Given the description of an element on the screen output the (x, y) to click on. 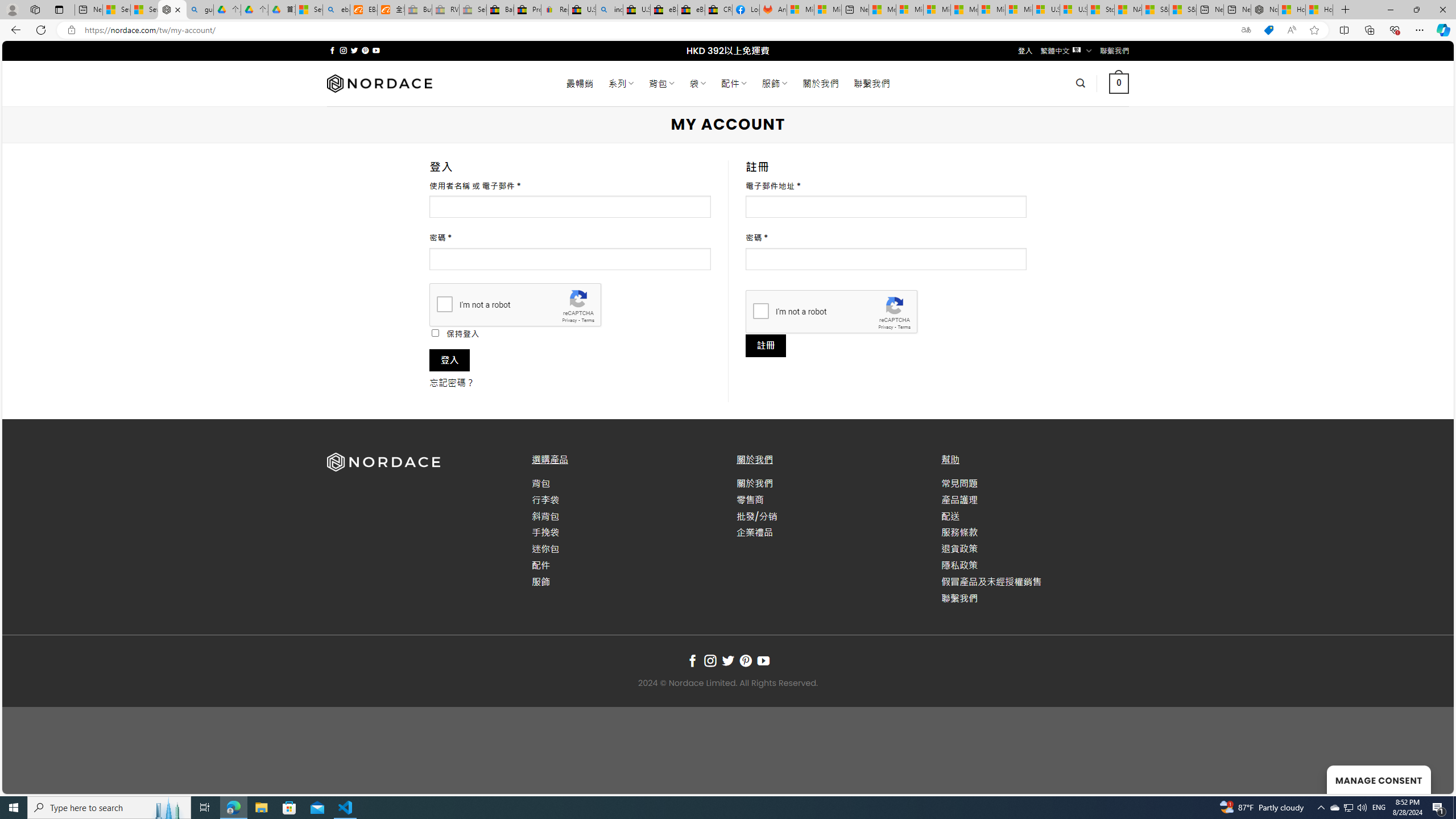
This site has coupons! Shopping in Microsoft Edge (1268, 29)
Nordace - My Account (171, 9)
U.S. State Privacy Disclosures - eBay Inc. (636, 9)
Follow on Facebook (691, 660)
